Given the description of an element on the screen output the (x, y) to click on. 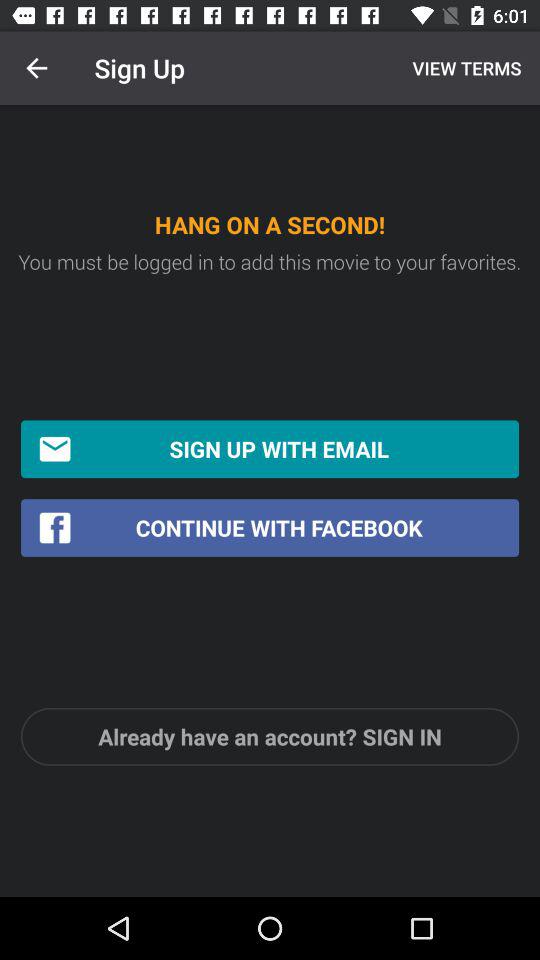
flip to the view terms icon (464, 67)
